Given the description of an element on the screen output the (x, y) to click on. 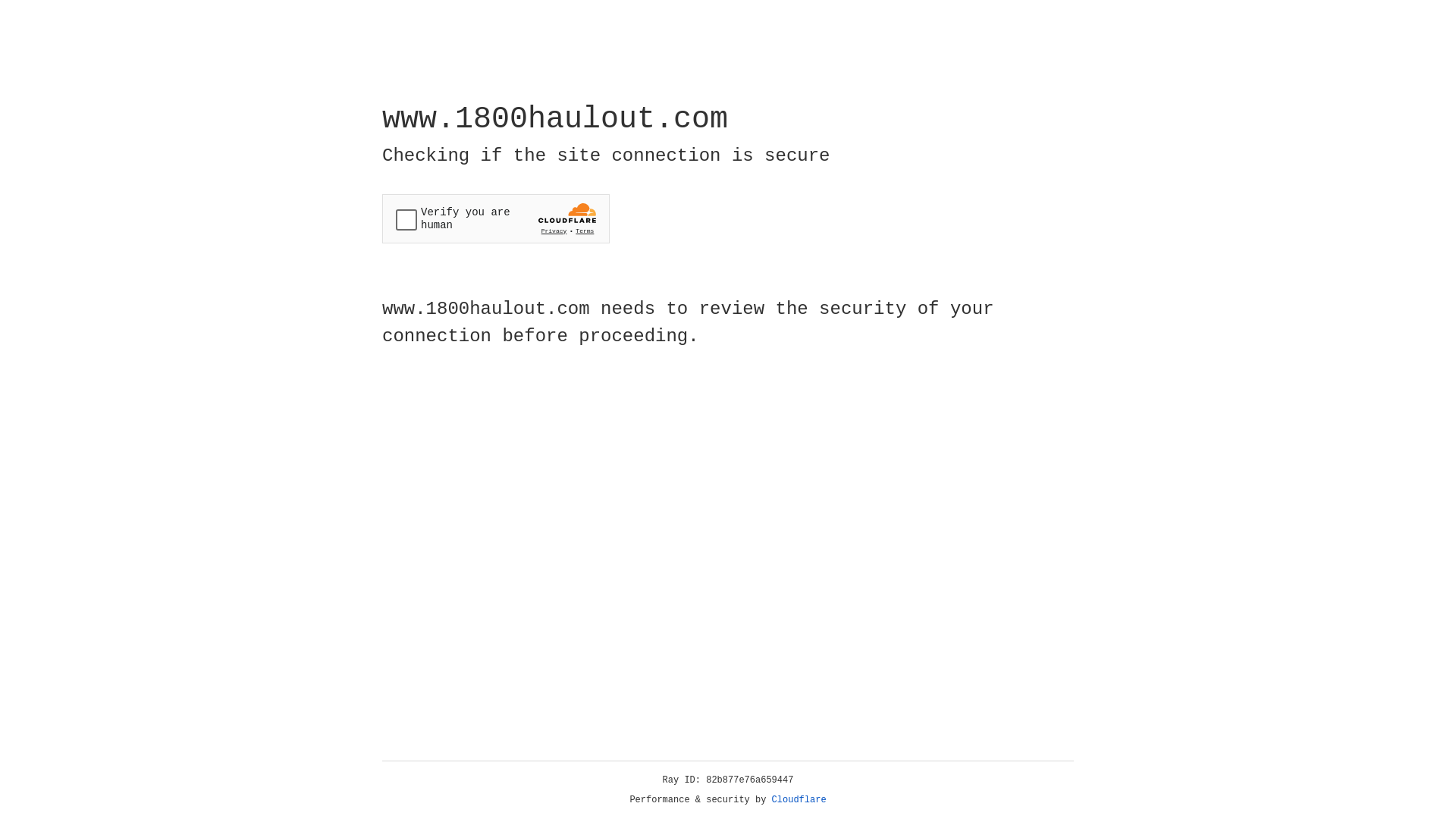
Widget containing a Cloudflare security challenge Element type: hover (495, 218)
Cloudflare Element type: text (798, 799)
